Given the description of an element on the screen output the (x, y) to click on. 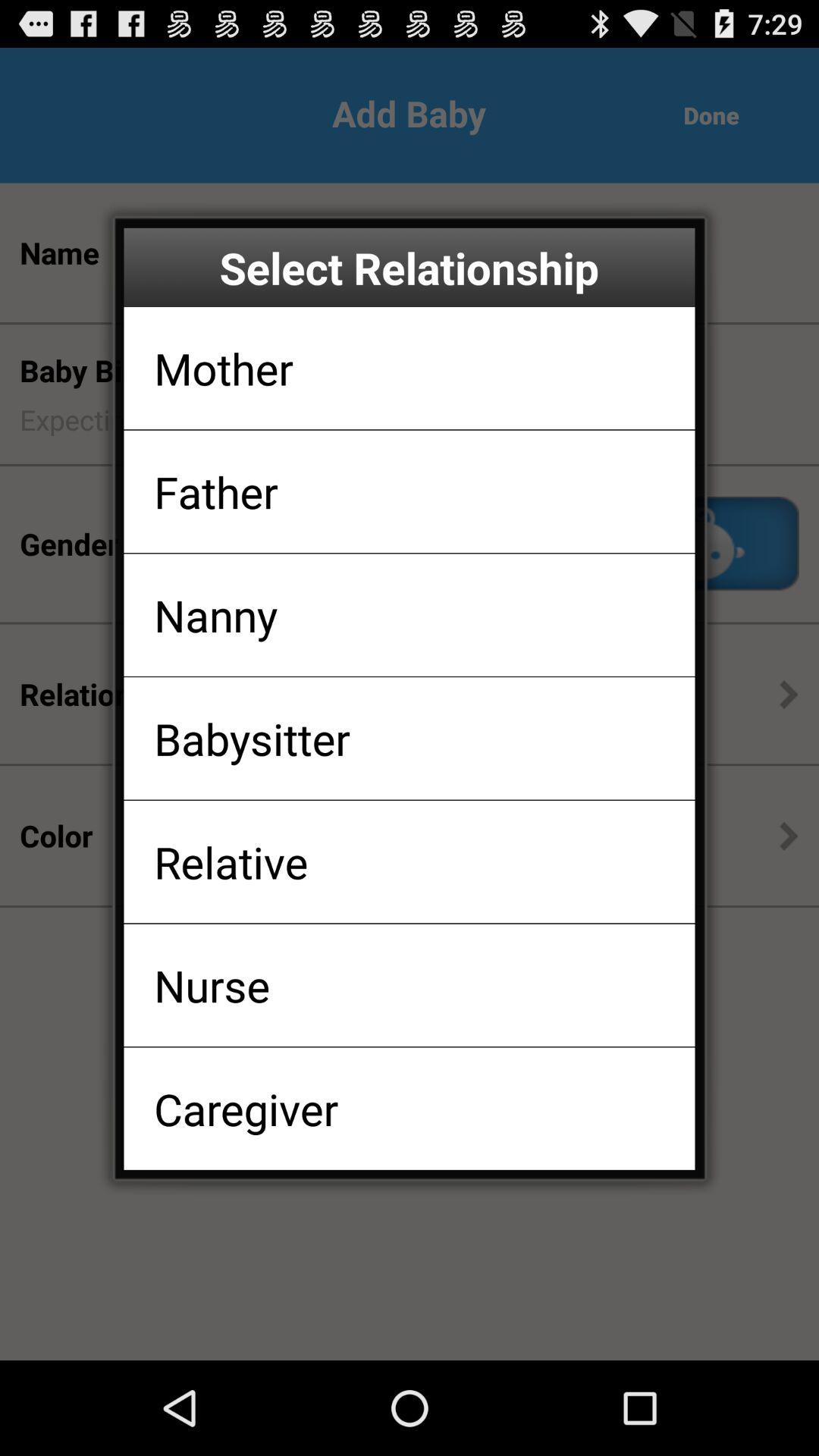
scroll to father app (216, 491)
